Given the description of an element on the screen output the (x, y) to click on. 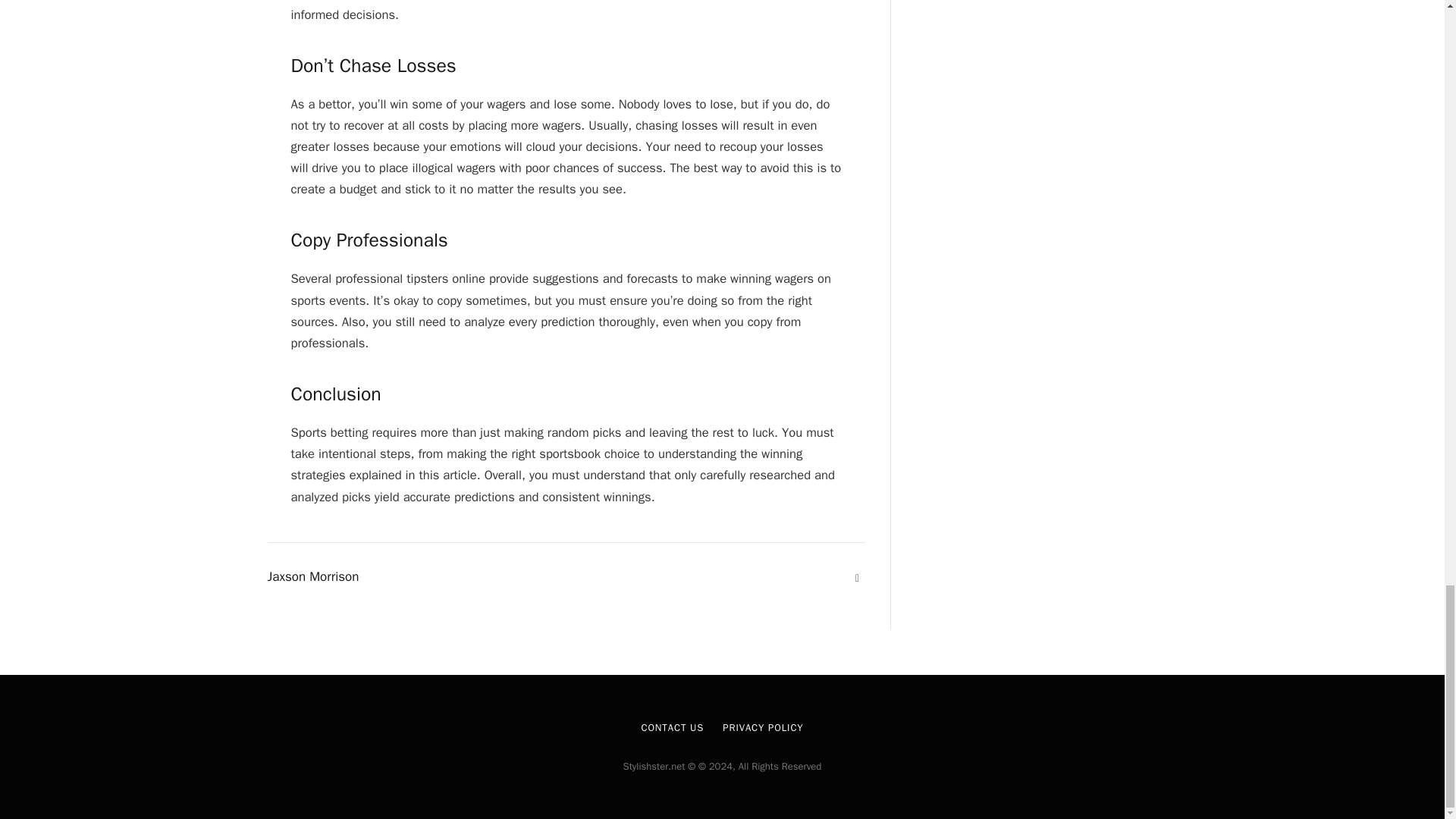
Posts by Jaxson Morrison (312, 576)
Jaxson Morrison (312, 576)
Website (856, 578)
Website (856, 578)
